Given the description of an element on the screen output the (x, y) to click on. 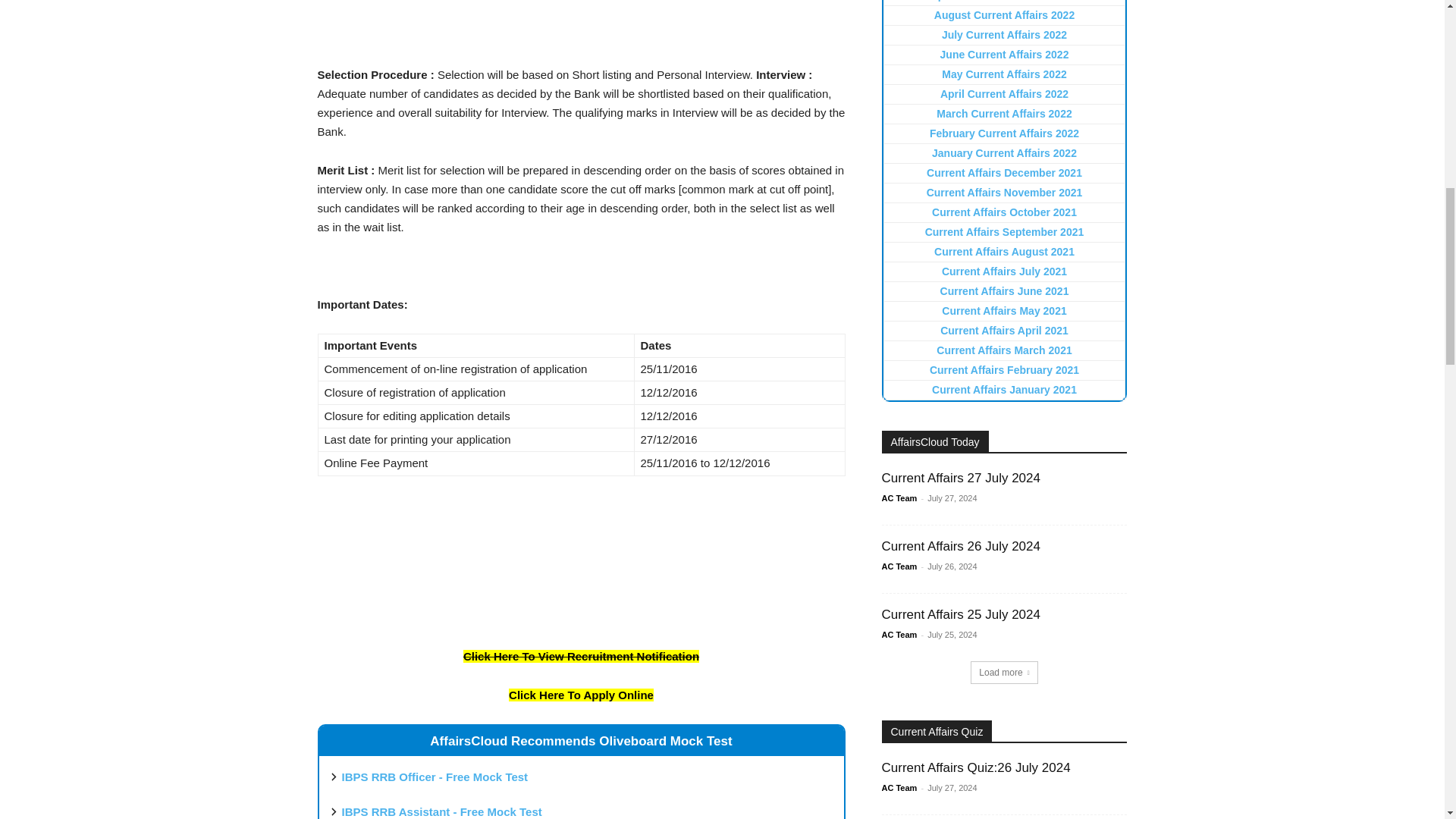
Current Affairs 27 July 2024 (959, 477)
